Given the description of an element on the screen output the (x, y) to click on. 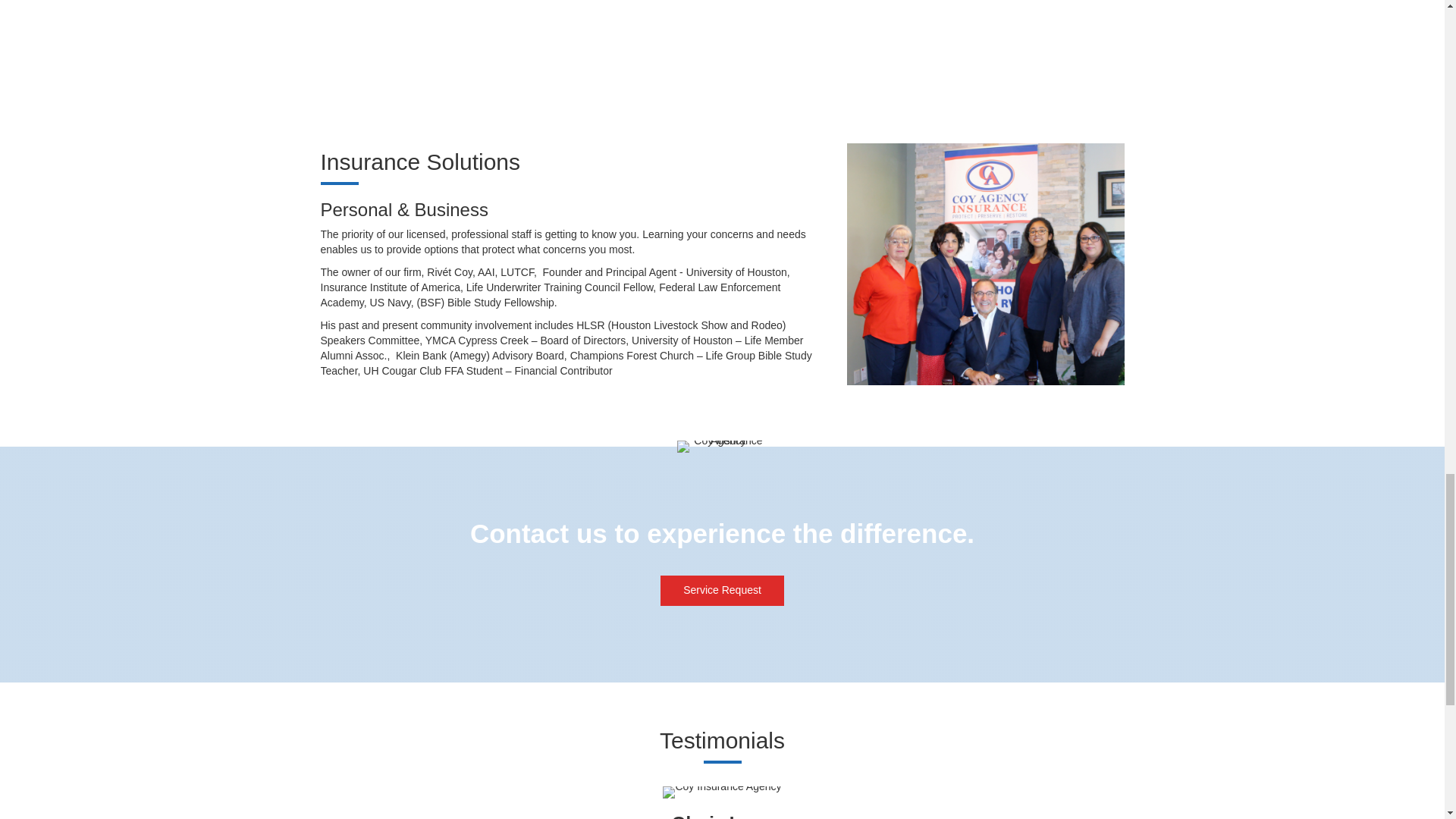
Coy Insurance Agency (721, 792)
